Given the description of an element on the screen output the (x, y) to click on. 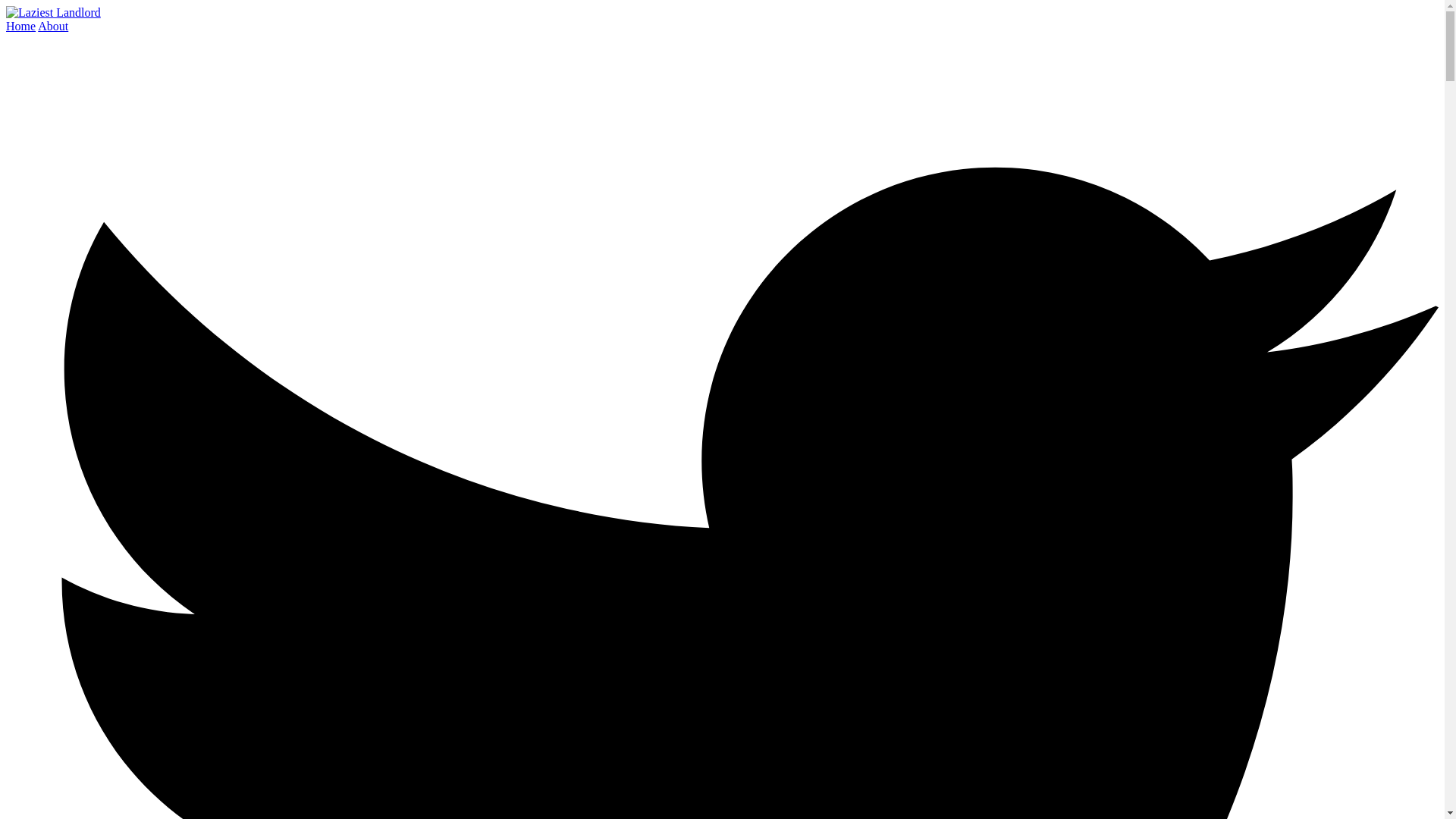
Home (19, 25)
About (52, 25)
